Given the description of an element on the screen output the (x, y) to click on. 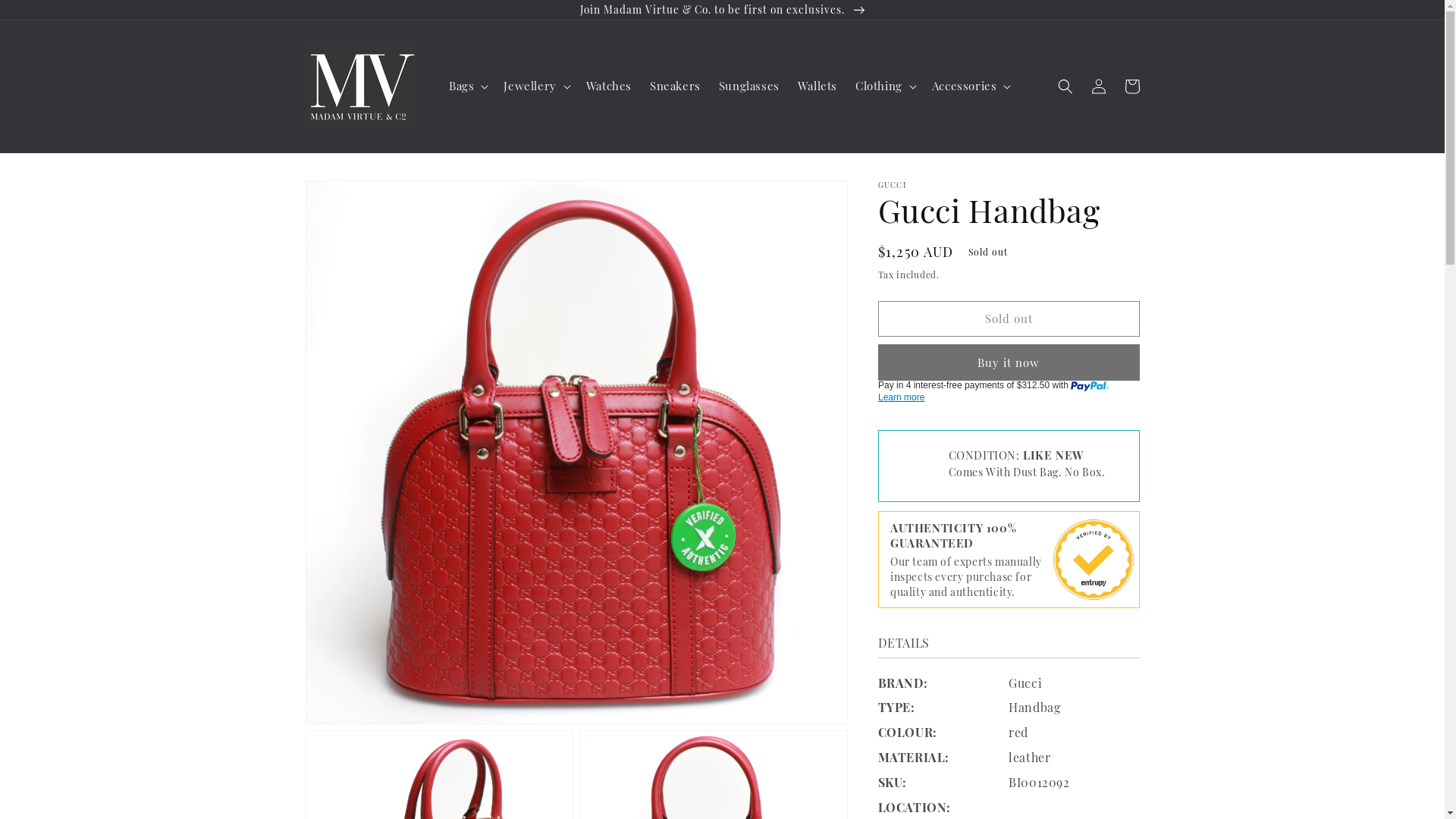
Sold out Element type: text (1008, 318)
Log in Element type: text (1097, 86)
Join Madam Virtue & Co. to be first on exclusives. Element type: text (722, 9)
Sunglasses Element type: text (748, 86)
Skip to product information Element type: text (350, 197)
Watches Element type: text (608, 86)
Wallets Element type: text (817, 86)
Sneakers Element type: text (674, 86)
PayPal Message 1 Element type: hover (1008, 392)
Cart Element type: text (1131, 86)
Buy it now Element type: text (1008, 362)
